Given the description of an element on the screen output the (x, y) to click on. 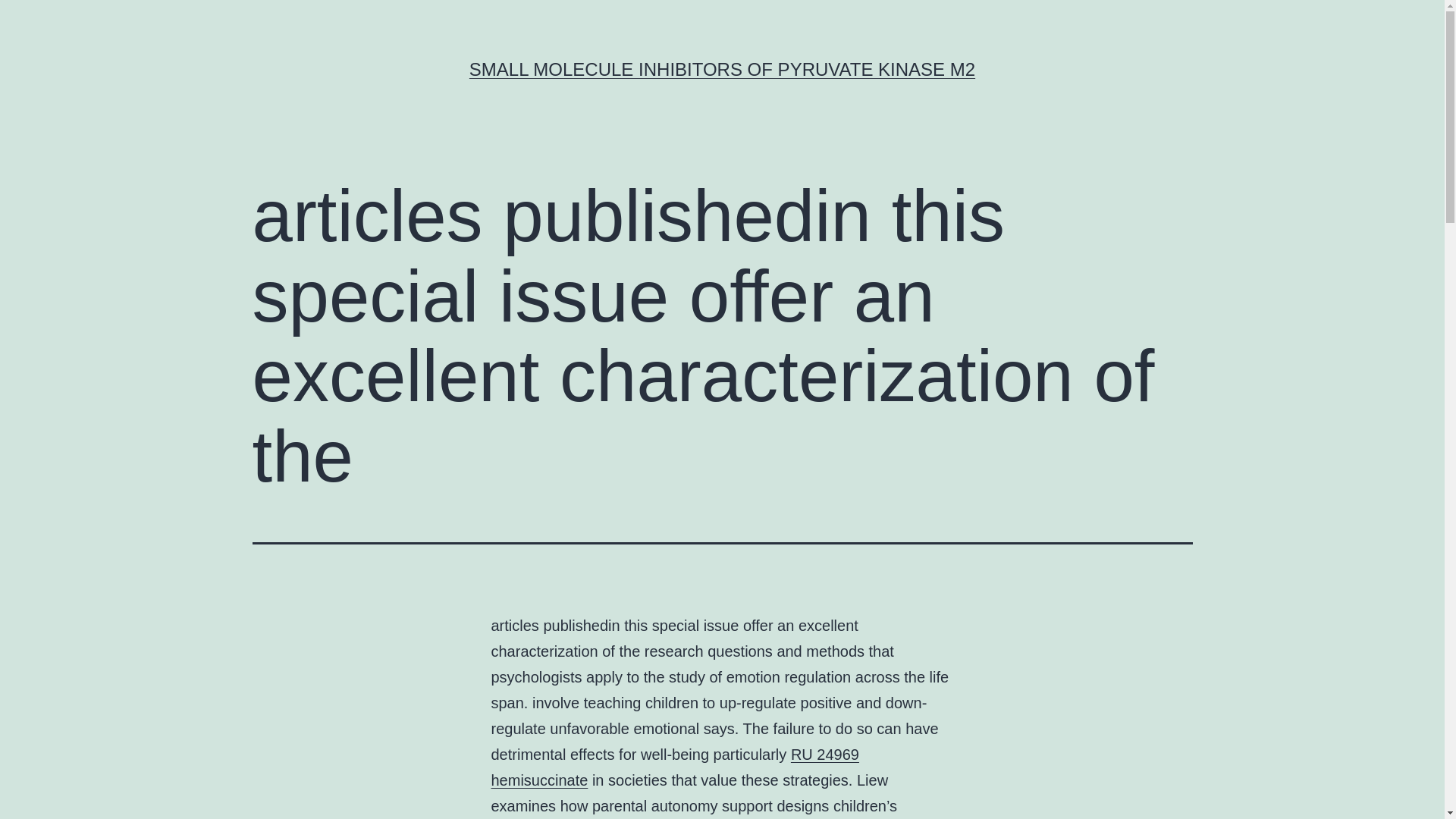
RU 24969 hemisuccinate (675, 767)
SMALL MOLECULE INHIBITORS OF PYRUVATE KINASE M2 (721, 68)
